Given the description of an element on the screen output the (x, y) to click on. 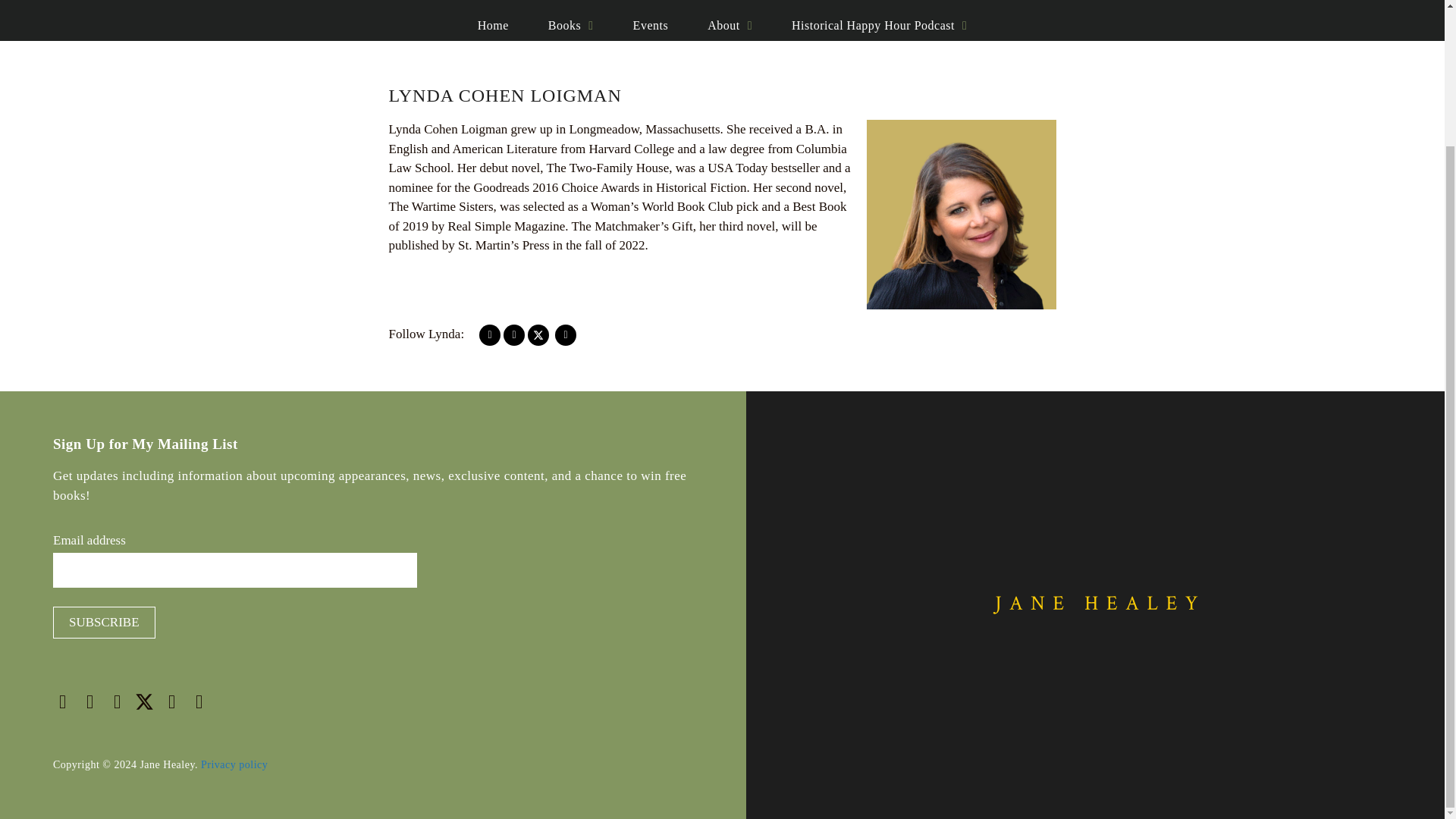
About (729, 25)
Historical Happy Hour Podcast (879, 25)
Events (650, 25)
Subscribe (103, 622)
Home (493, 25)
Books (570, 25)
